Given the description of an element on the screen output the (x, y) to click on. 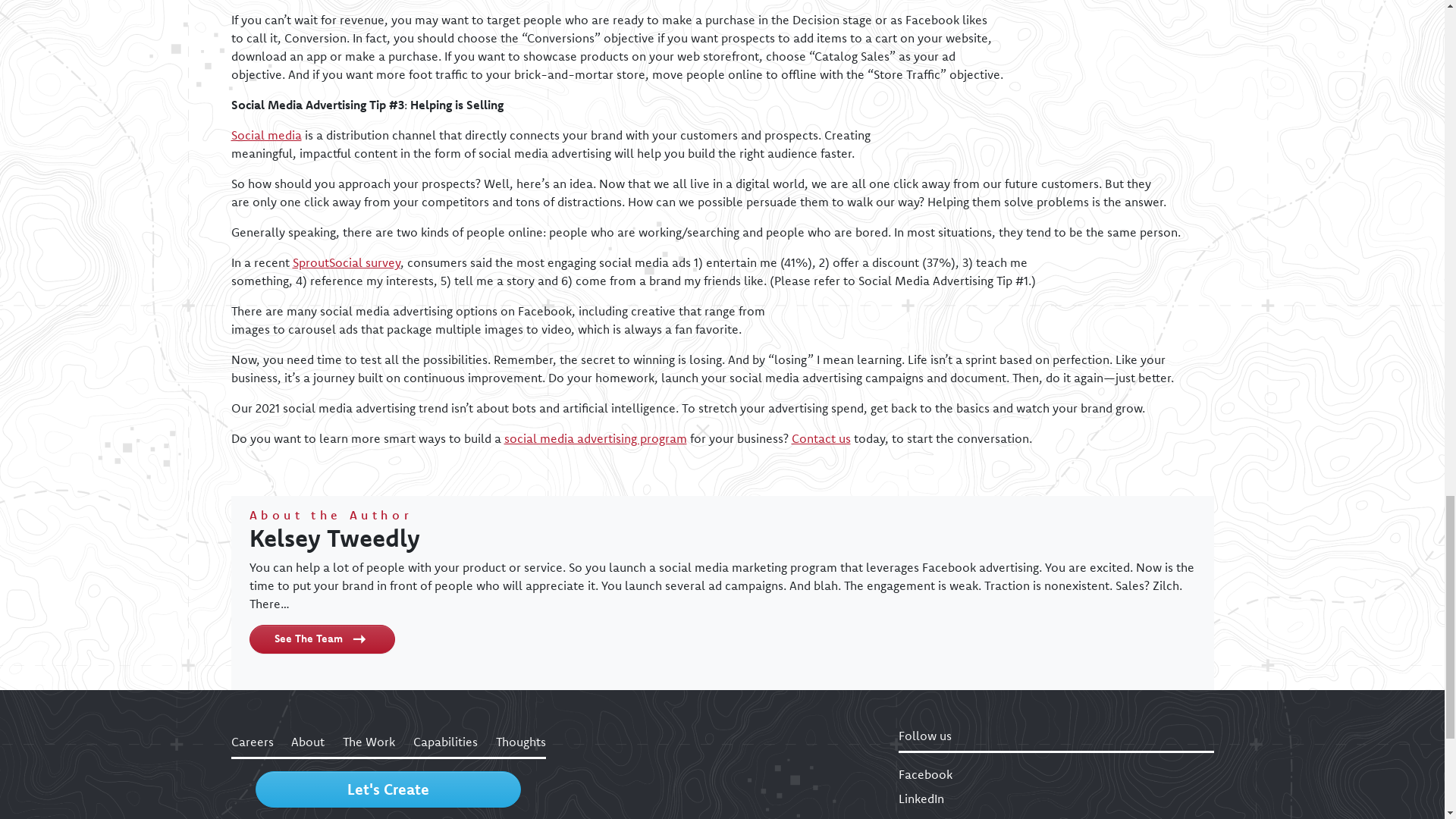
social media advertising program (594, 437)
The Work (368, 741)
SproutSocial survey (346, 262)
See The Team (321, 638)
Social media (265, 134)
Facebook (1056, 773)
LinkedIn (1056, 798)
Contact us (821, 437)
About (307, 741)
Capabilities (445, 741)
X (1056, 816)
Careers (251, 741)
